Given the description of an element on the screen output the (x, y) to click on. 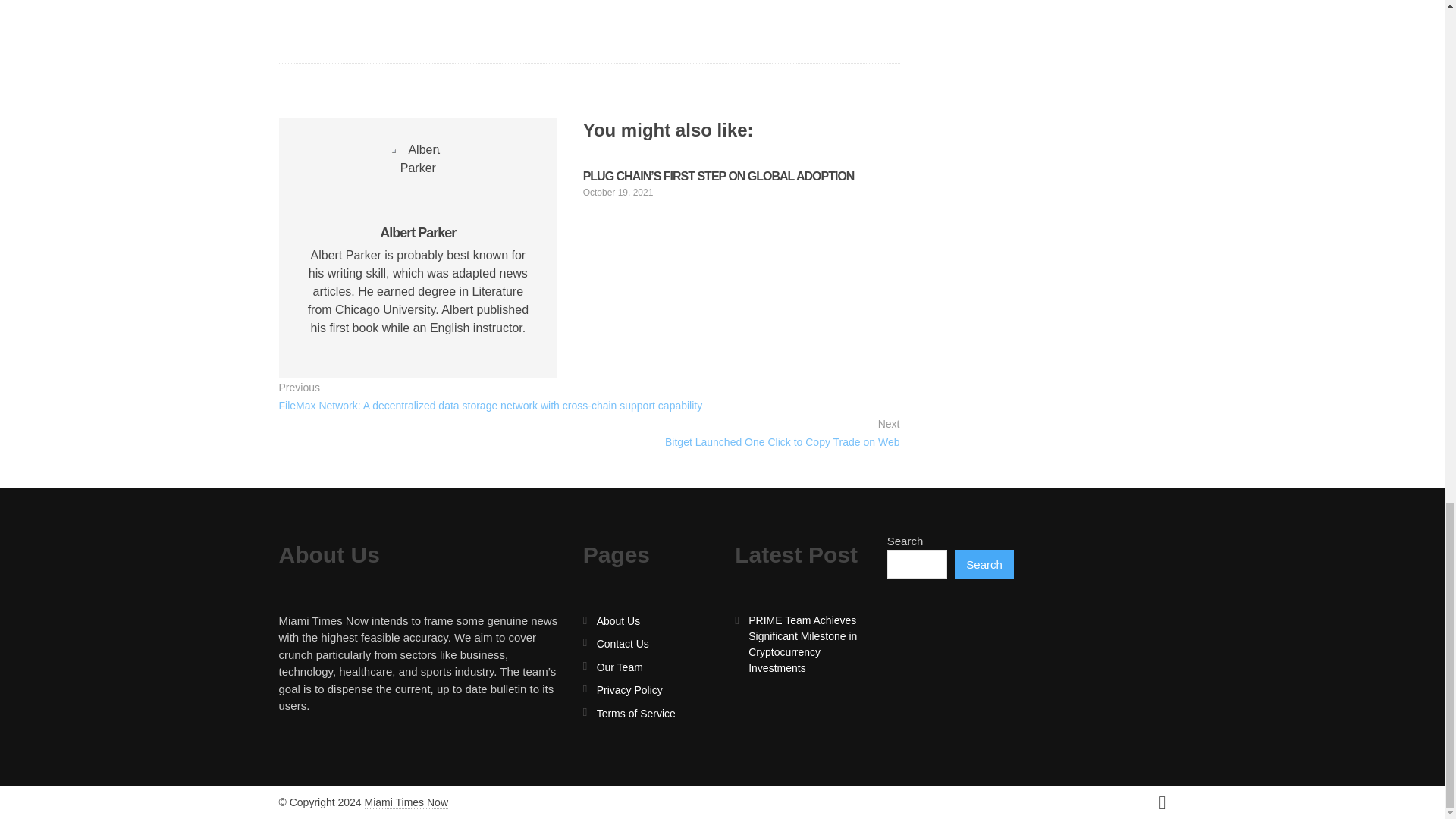
Terms of Service (635, 713)
Contact Us (622, 644)
Miami Times Now (406, 802)
About Us (618, 621)
Our Team (619, 666)
Privacy Policy (629, 689)
Albert Parker (417, 232)
Search (984, 563)
Bitget Launched One Click to Copy Trade on Web (782, 442)
